Given the description of an element on the screen output the (x, y) to click on. 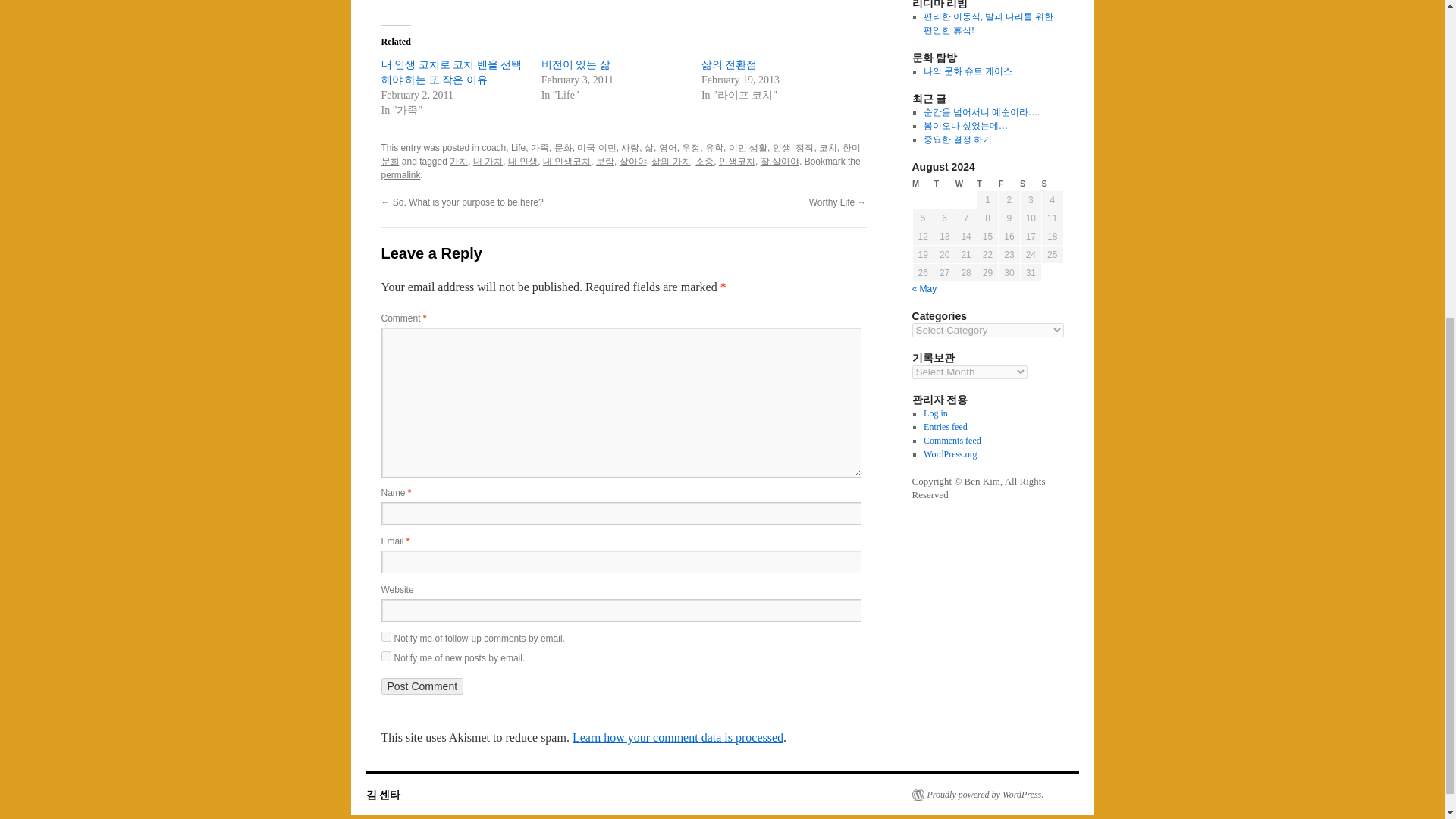
Post Comment (421, 686)
Wednesday (965, 183)
subscribe (385, 655)
subscribe (385, 636)
Life (518, 147)
Monday (922, 183)
Tuesday (944, 183)
coach (493, 147)
